Given the description of an element on the screen output the (x, y) to click on. 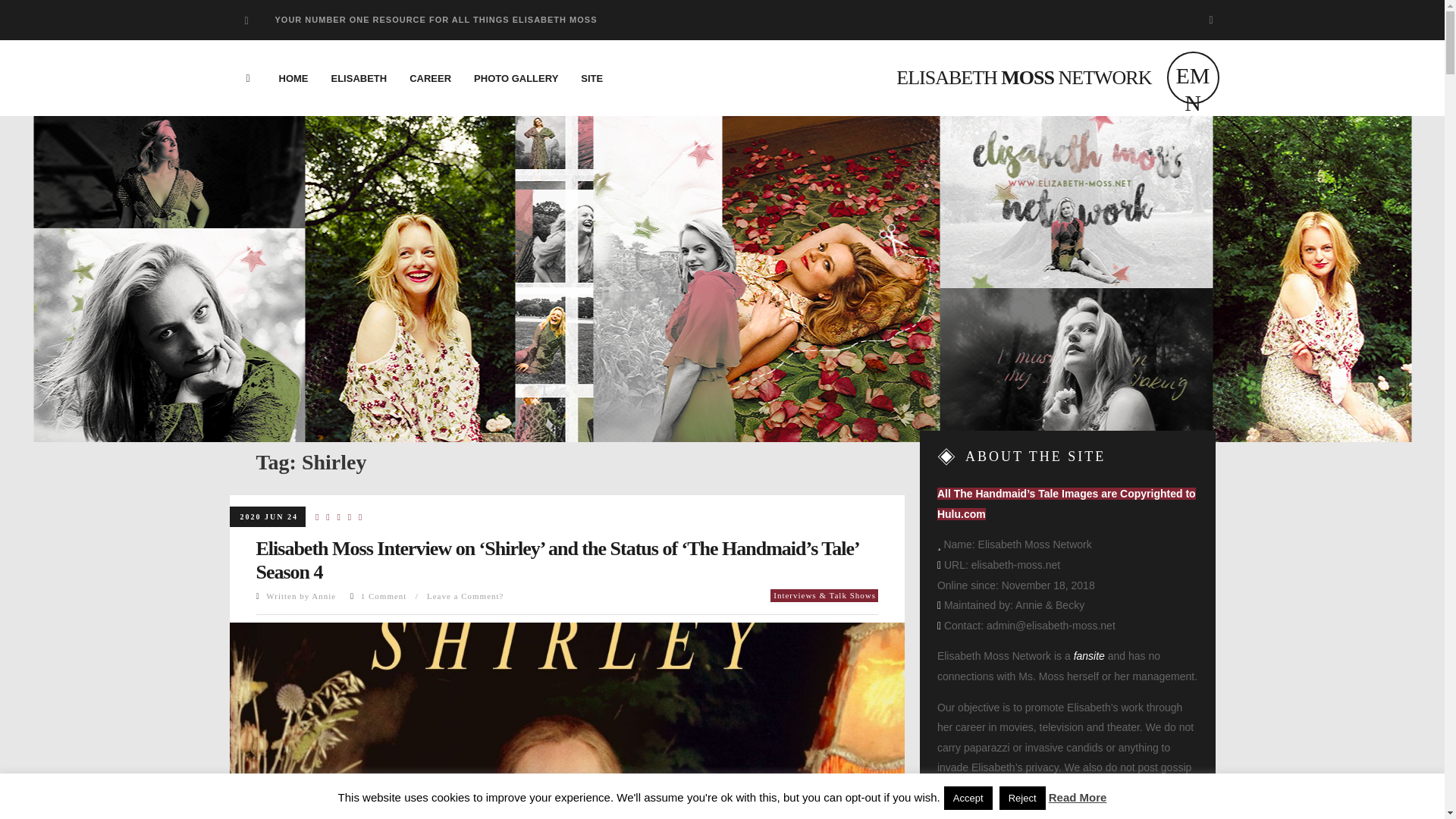
ELISABETH (359, 78)
SITE (591, 78)
CAREER (430, 78)
HOME (293, 78)
PHOTO GALLERY (516, 78)
